Given the description of an element on the screen output the (x, y) to click on. 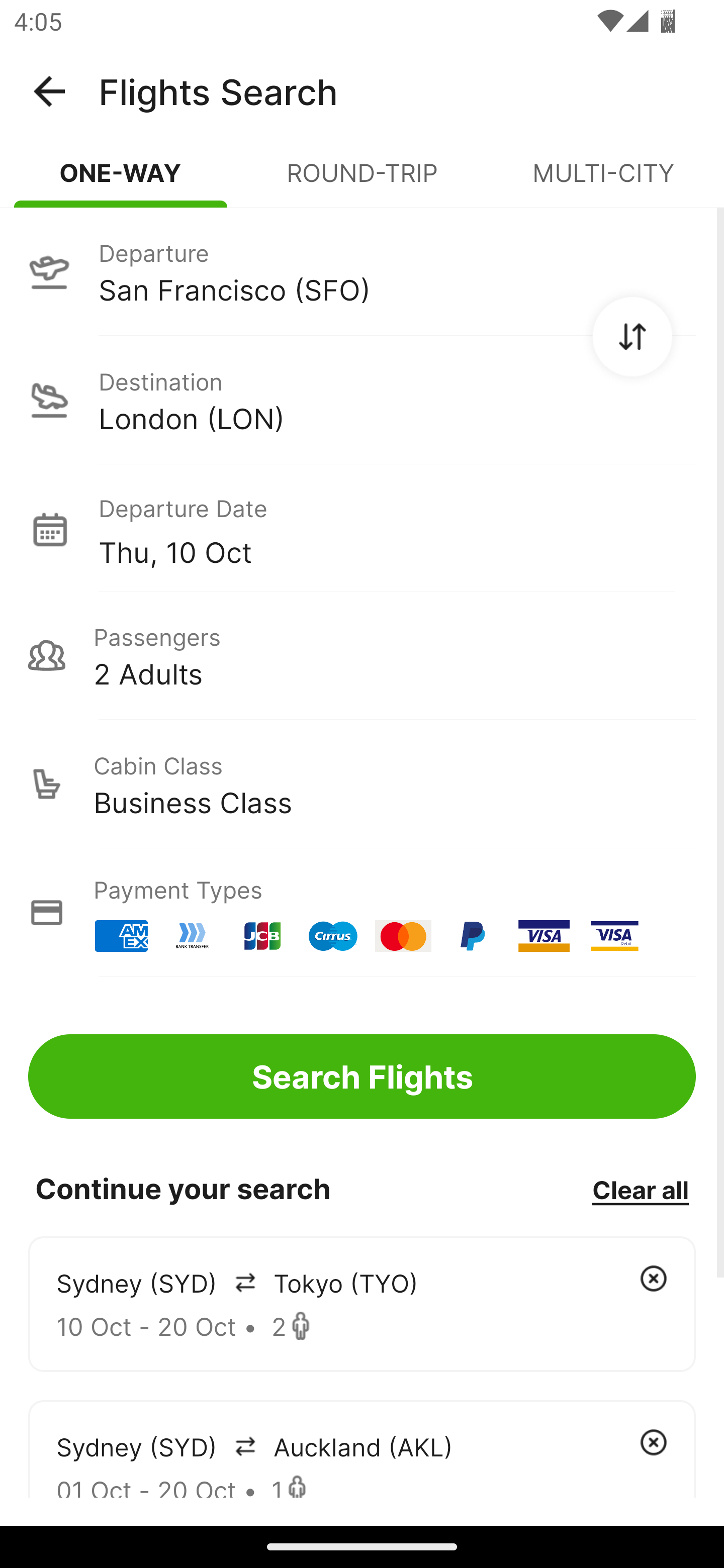
ONE-WAY (120, 180)
ROUND-TRIP (361, 180)
MULTI-CITY (603, 180)
Departure San Francisco (SFO) (362, 270)
Destination London (LON) (362, 400)
Departure Date Thu, 10 Oct (396, 528)
Passengers 2 Adults (362, 655)
Cabin Class Business Class (362, 783)
Payment Types (362, 912)
Search Flights (361, 1075)
Clear all (640, 1189)
